Given the description of an element on the screen output the (x, y) to click on. 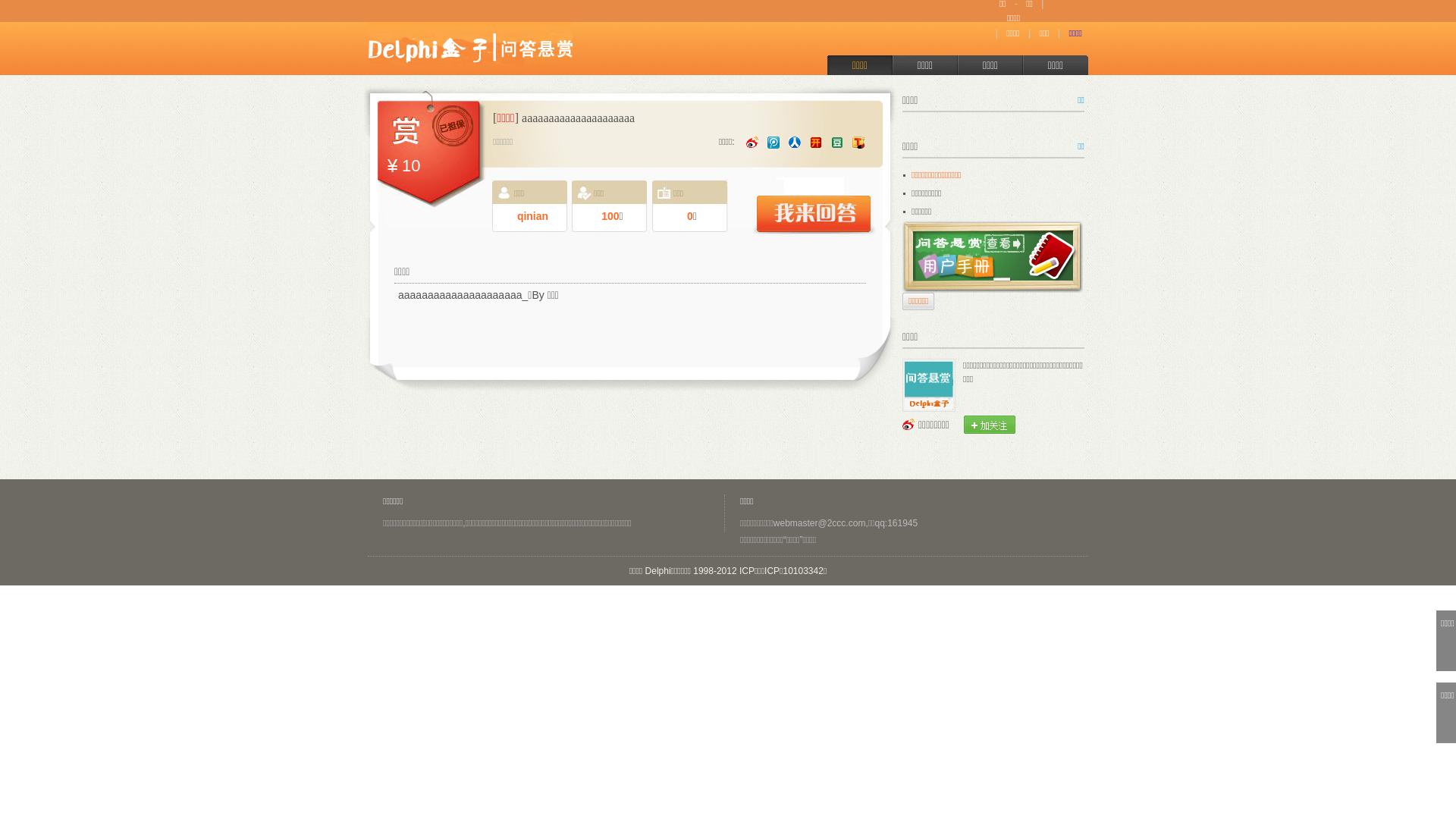
  Element type: text (989, 424)
